Given the description of an element on the screen output the (x, y) to click on. 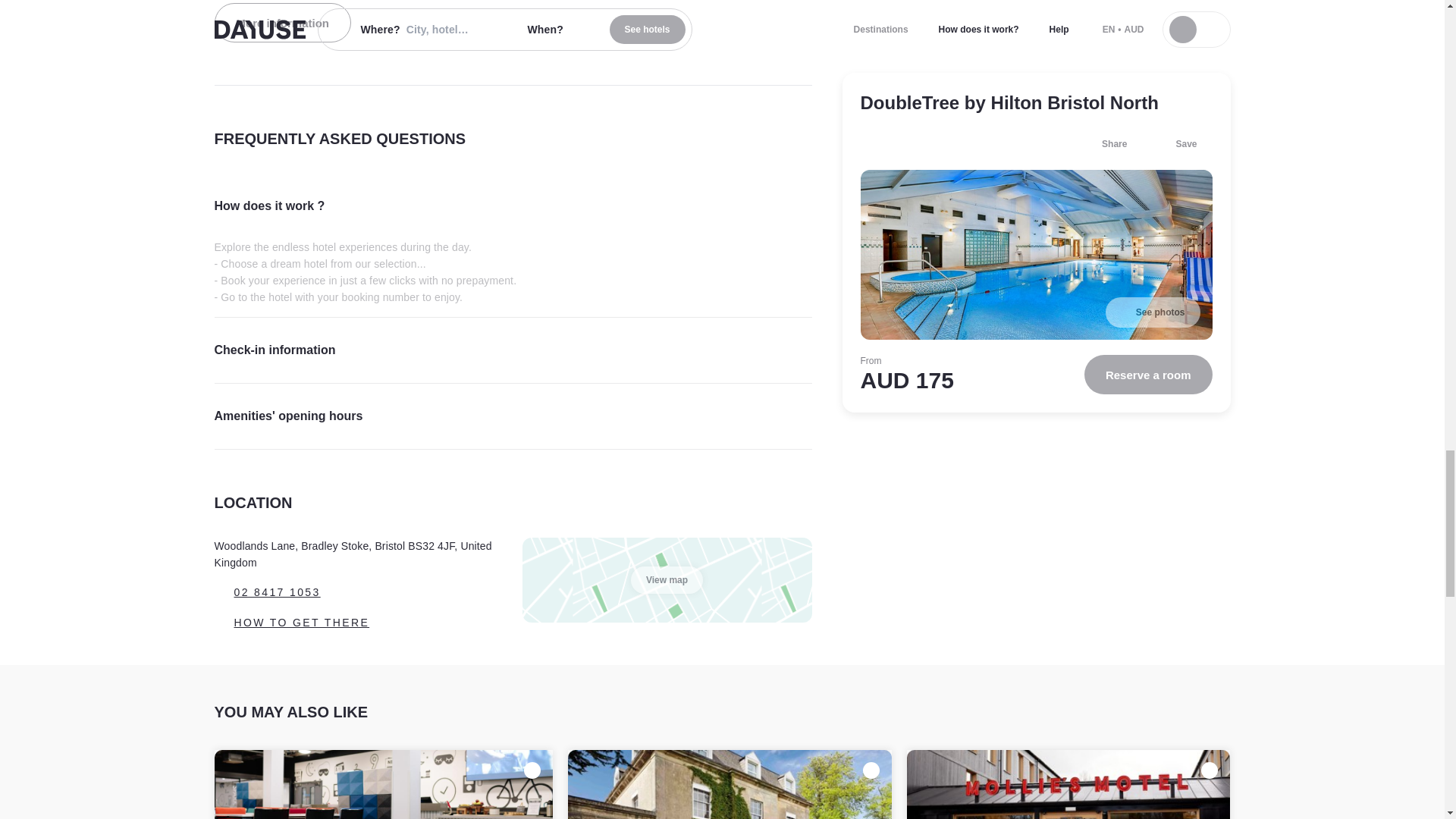
More information (282, 22)
Amenities' opening hours (512, 416)
Mercure Bristol North the Grange Hotel (729, 784)
Village Hotel Bristol (383, 784)
Check-in information (512, 350)
How does it work ? (512, 206)
02 8417 1053 (358, 592)
